Given the description of an element on the screen output the (x, y) to click on. 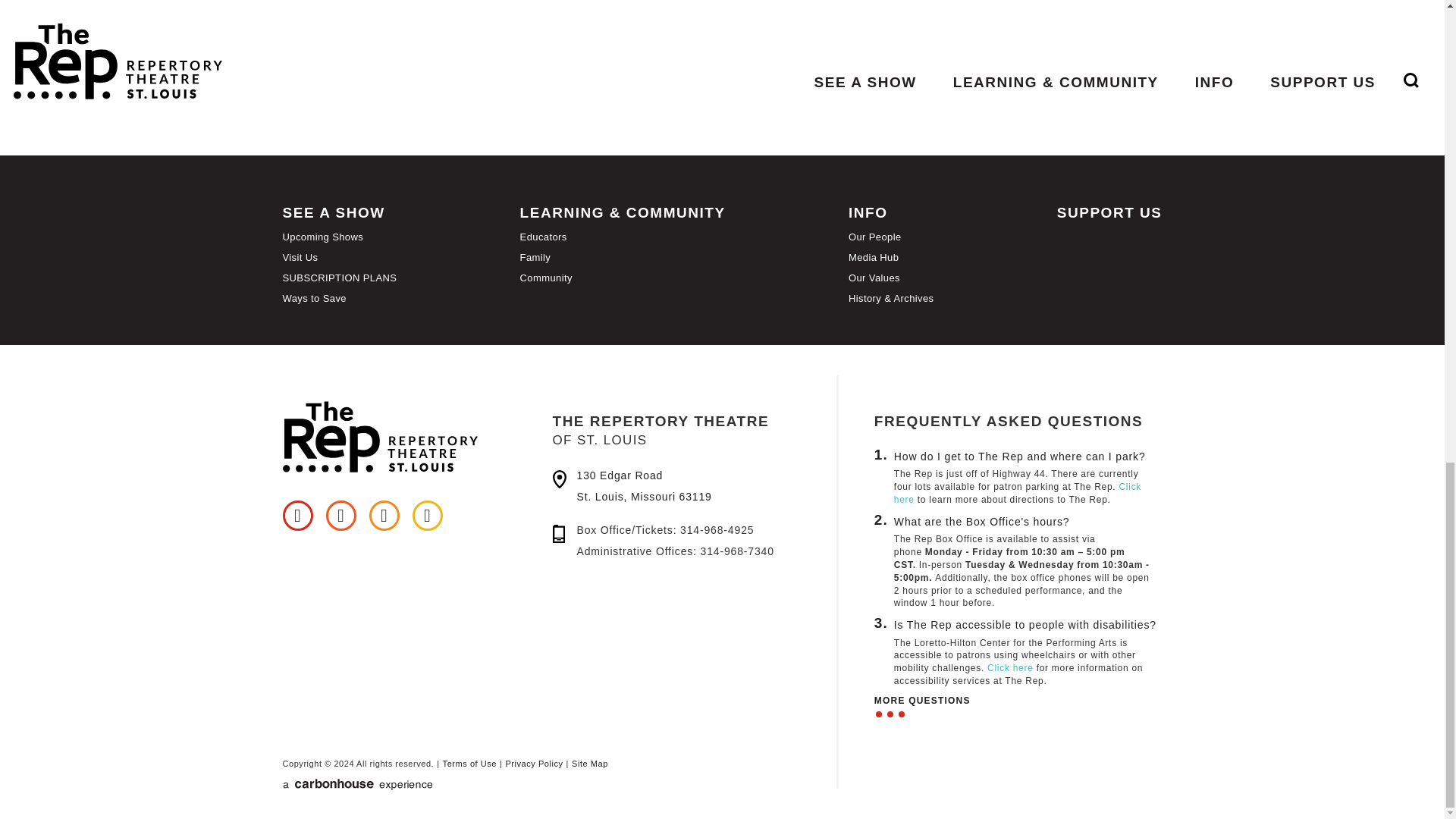
instagram (383, 515)
Upcoming Shows (322, 236)
a carbonhouse experience (444, 784)
SEE A SHOW (333, 212)
tiktok (341, 515)
Ways to Save (314, 297)
youtube (427, 515)
facebook (297, 515)
Visit Us (299, 256)
Educators (543, 236)
